Given the description of an element on the screen output the (x, y) to click on. 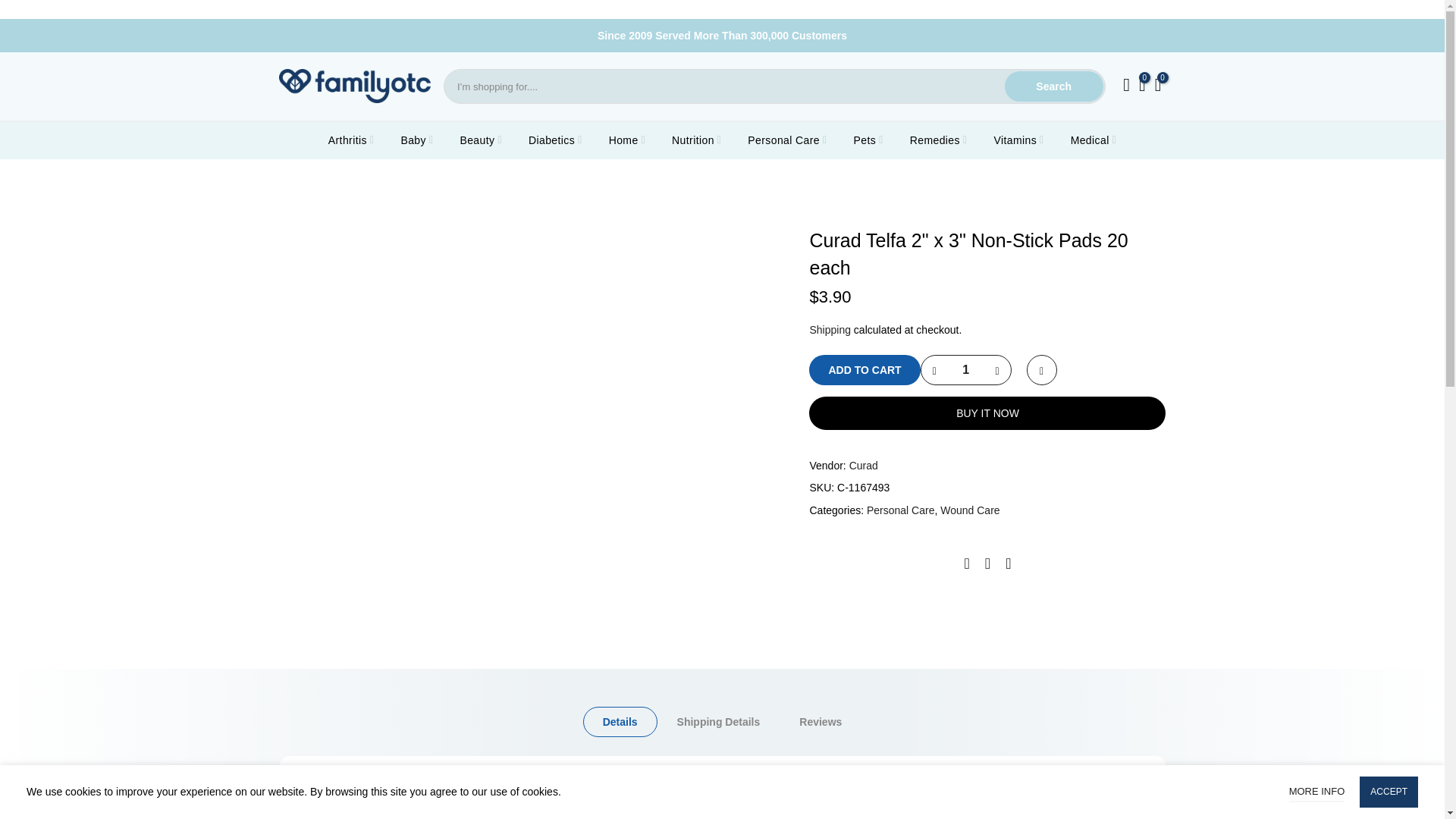
Baby (416, 139)
1 (965, 369)
Search (1053, 86)
Arthritis (350, 139)
Curad (862, 465)
